Given the description of an element on the screen output the (x, y) to click on. 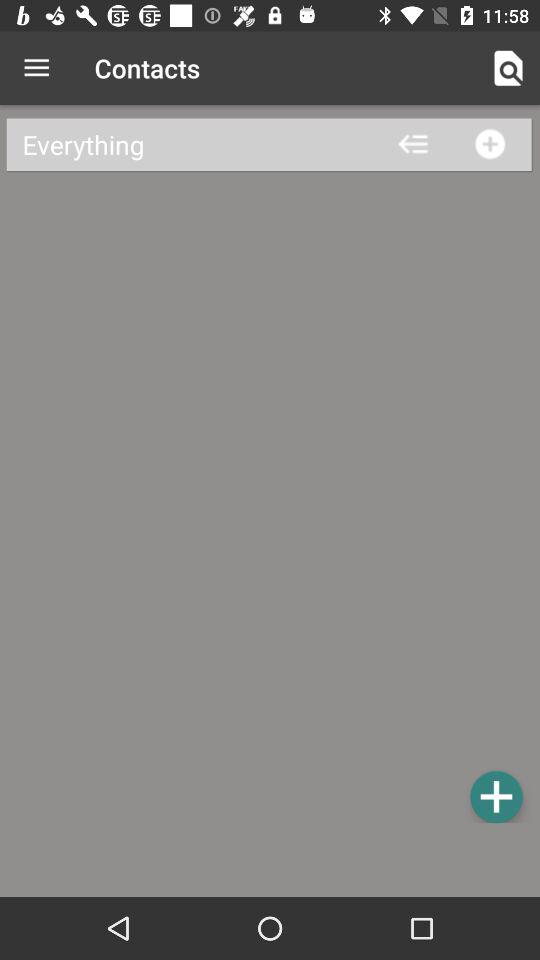
add contact (496, 796)
